Given the description of an element on the screen output the (x, y) to click on. 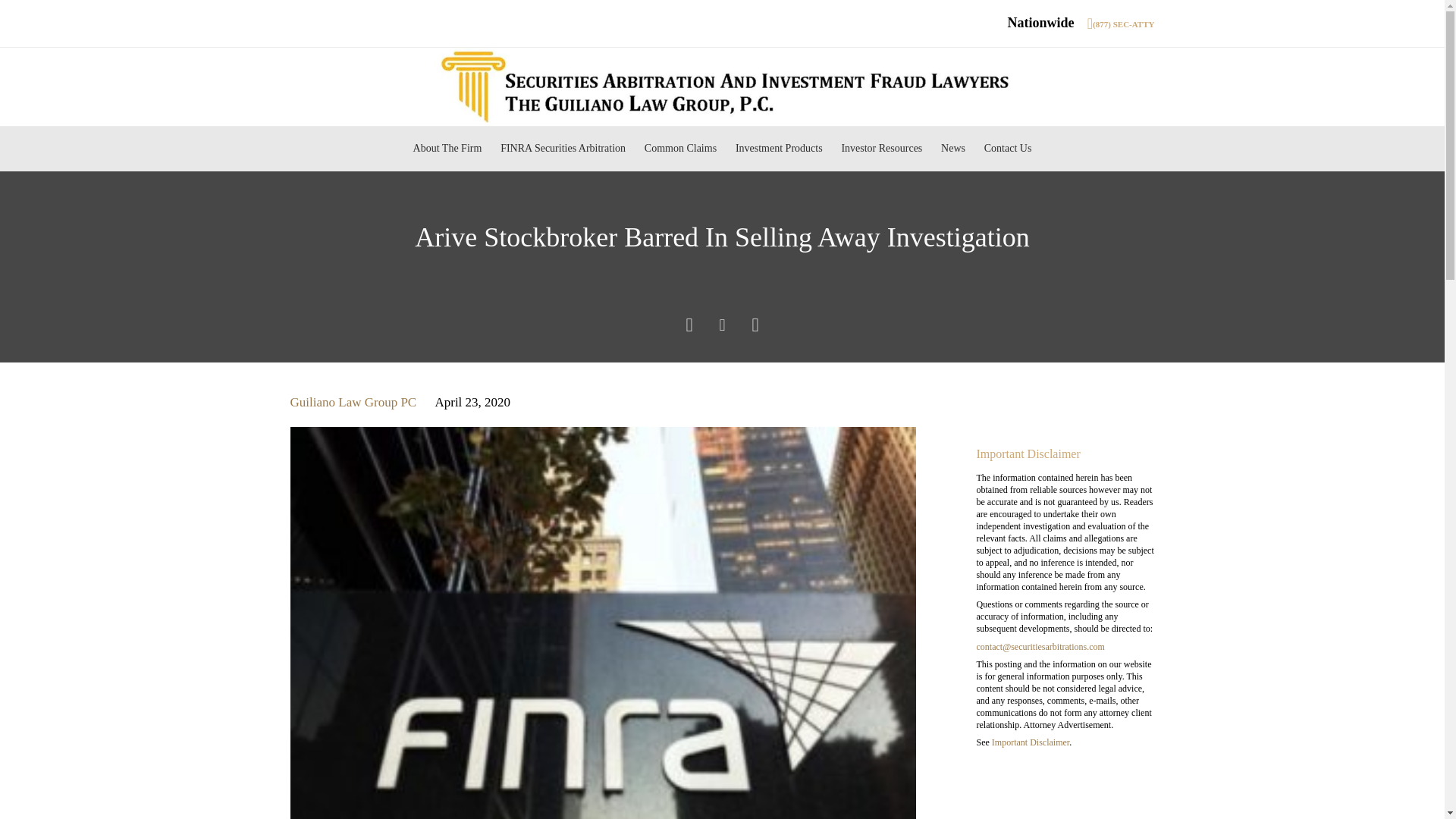
Posts by Guiliano Law Group PC (352, 401)
About The Firm (446, 148)
FINRA Securities Arbitration (563, 148)
Common Claims (679, 148)
